Given the description of an element on the screen output the (x, y) to click on. 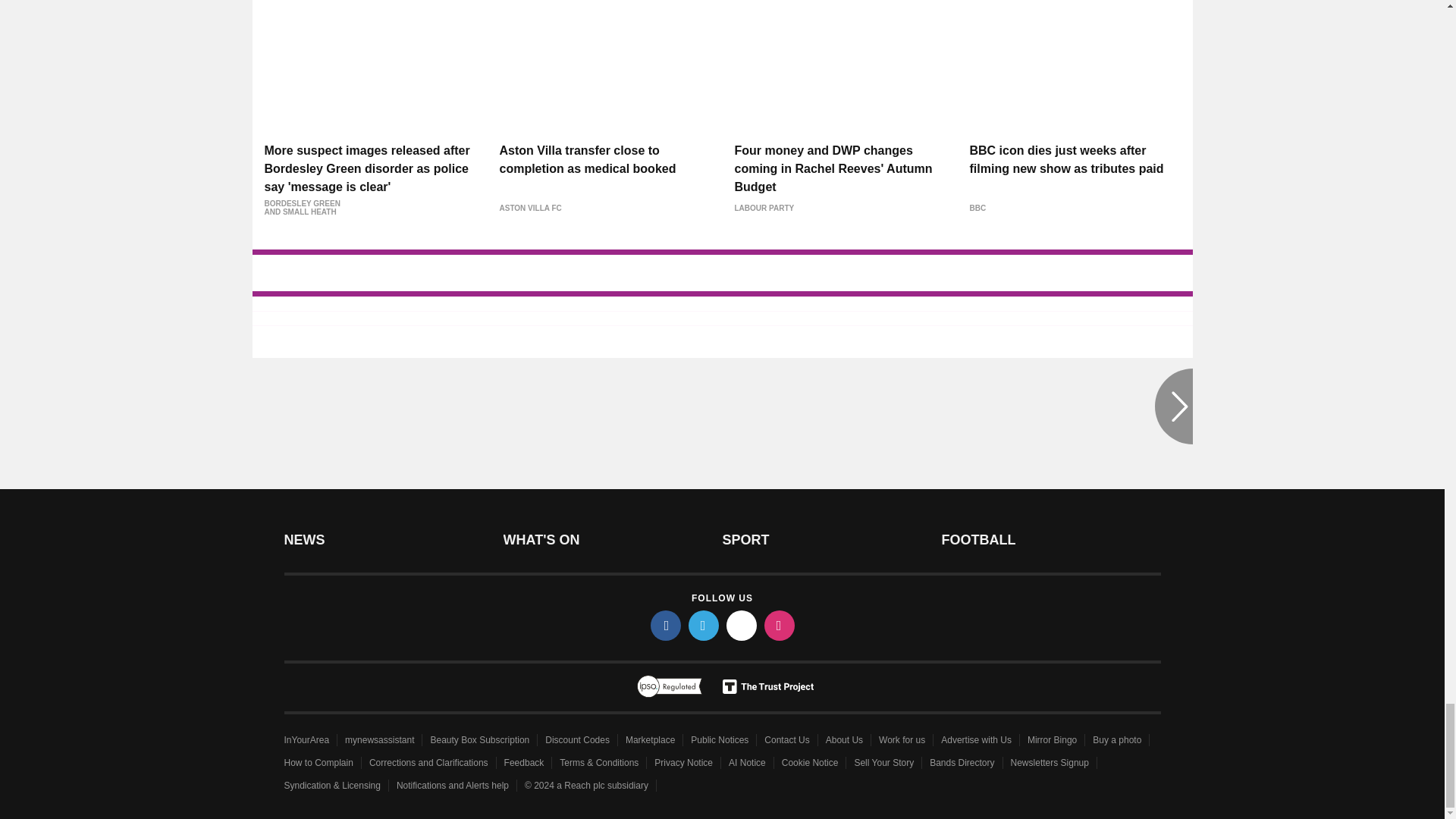
facebook (665, 625)
twitter (703, 625)
instagram (779, 625)
tiktok (741, 625)
